Given the description of an element on the screen output the (x, y) to click on. 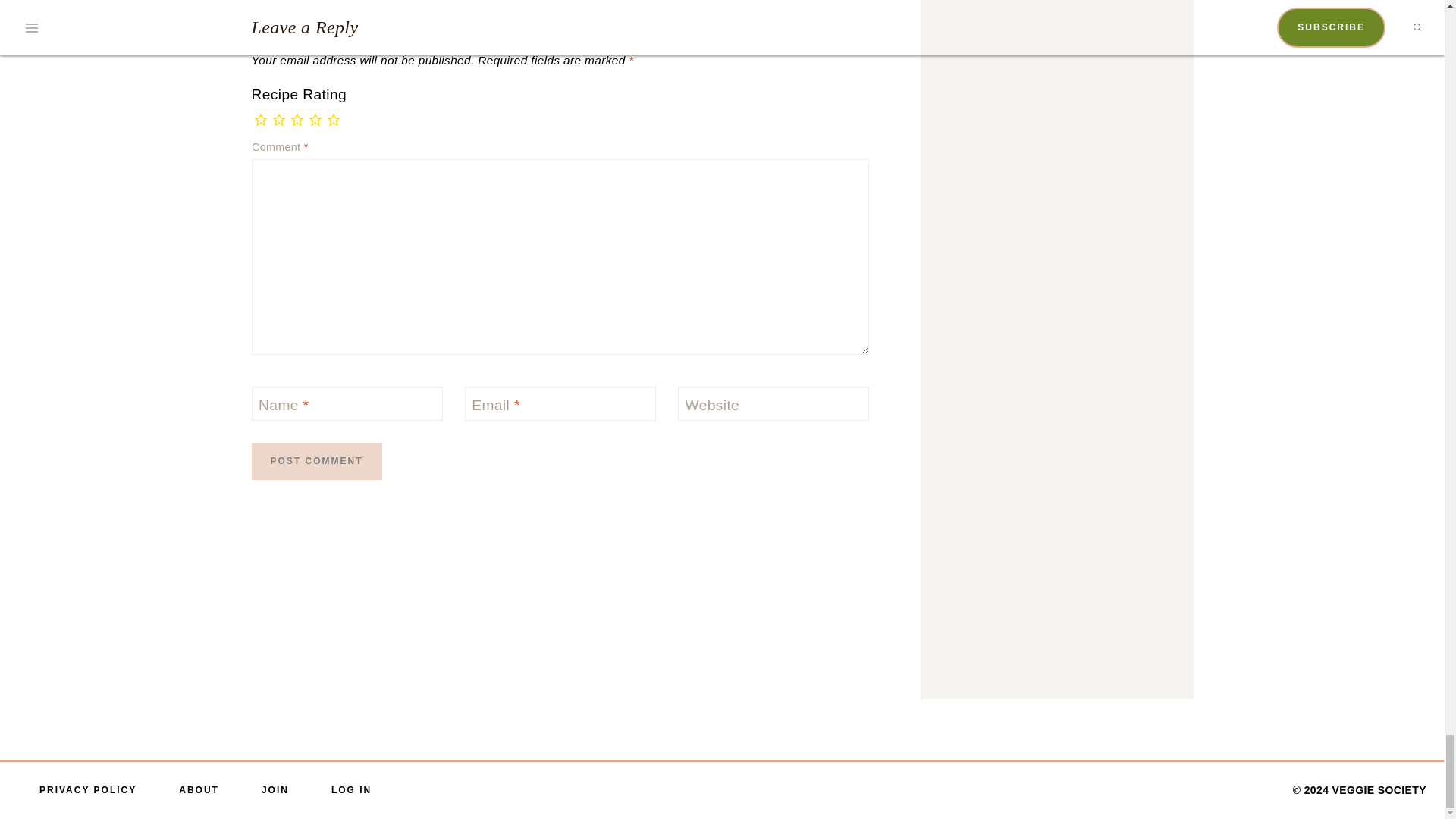
Post Comment (316, 461)
